Given the description of an element on the screen output the (x, y) to click on. 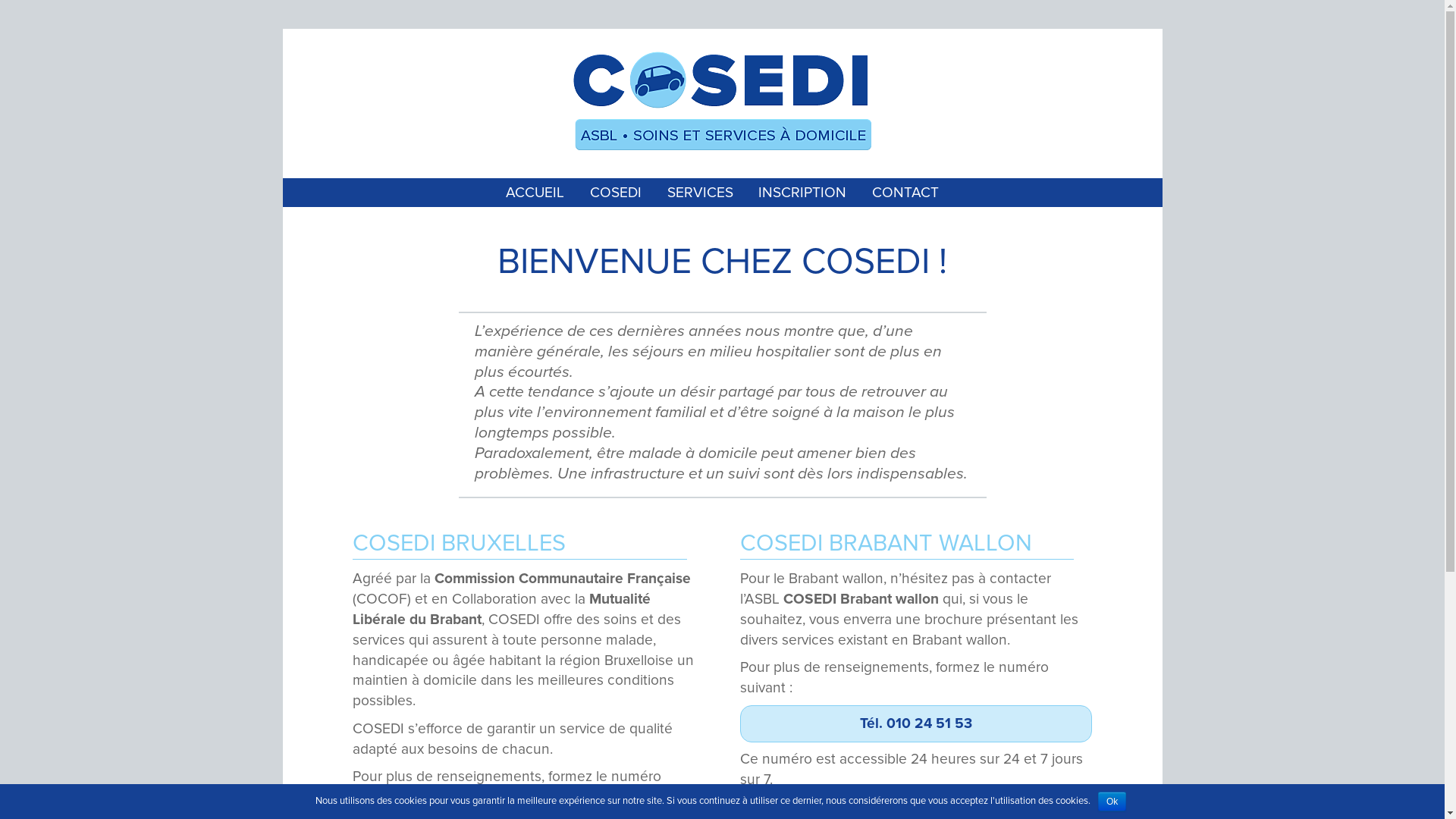
SERVICES Element type: text (700, 191)
INSCRIPTION Element type: text (802, 191)
ACCUEIL Element type: text (534, 191)
COSEDI Element type: text (615, 191)
Ok Element type: text (1112, 801)
CONTACT Element type: text (905, 191)
